Given the description of an element on the screen output the (x, y) to click on. 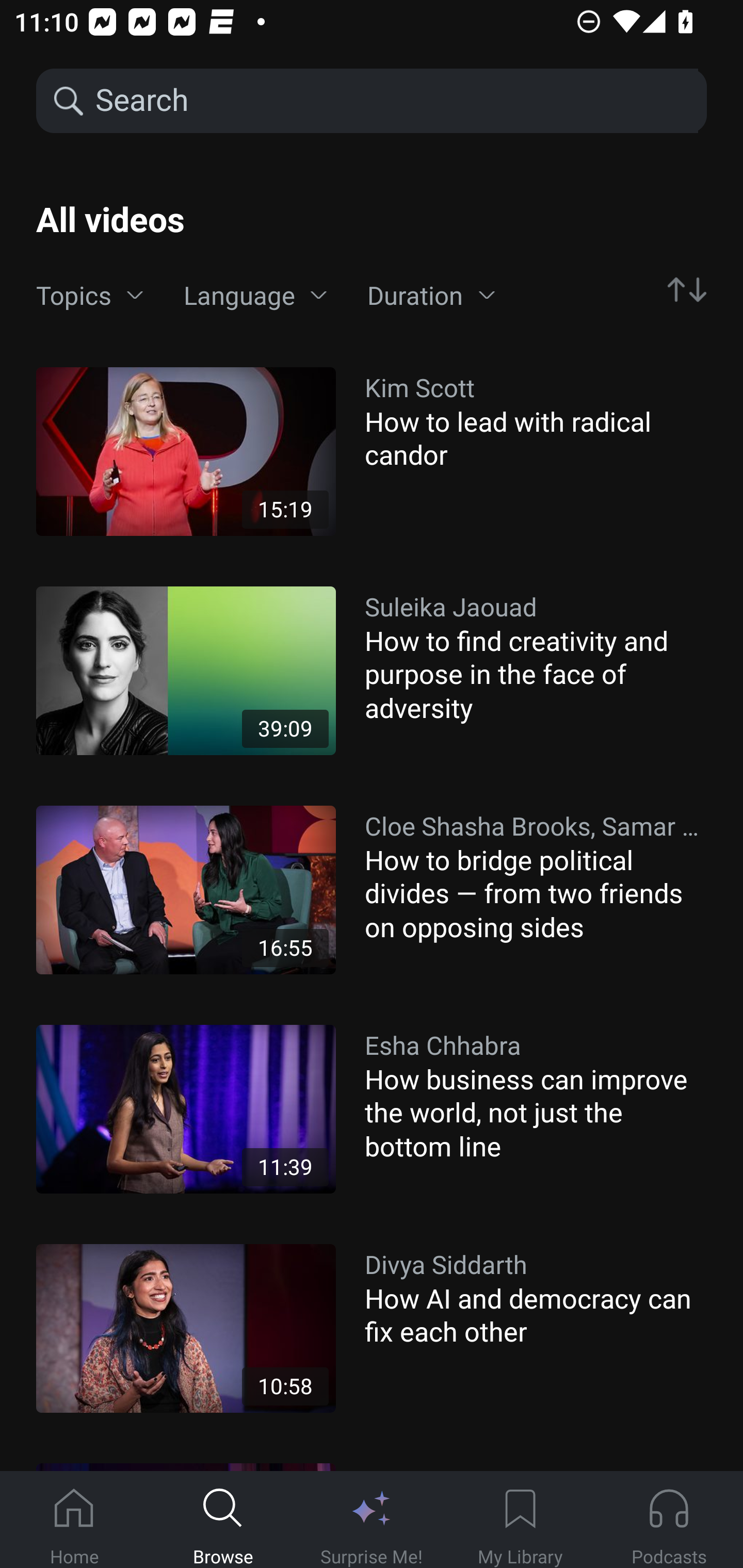
Search (395, 100)
Topics (90, 295)
Language (255, 295)
Duration (431, 295)
15:19 Kim Scott How to lead with radical candor (371, 451)
Home (74, 1520)
Browse (222, 1520)
Surprise Me! (371, 1520)
My Library (519, 1520)
Podcasts (668, 1520)
